Given the description of an element on the screen output the (x, y) to click on. 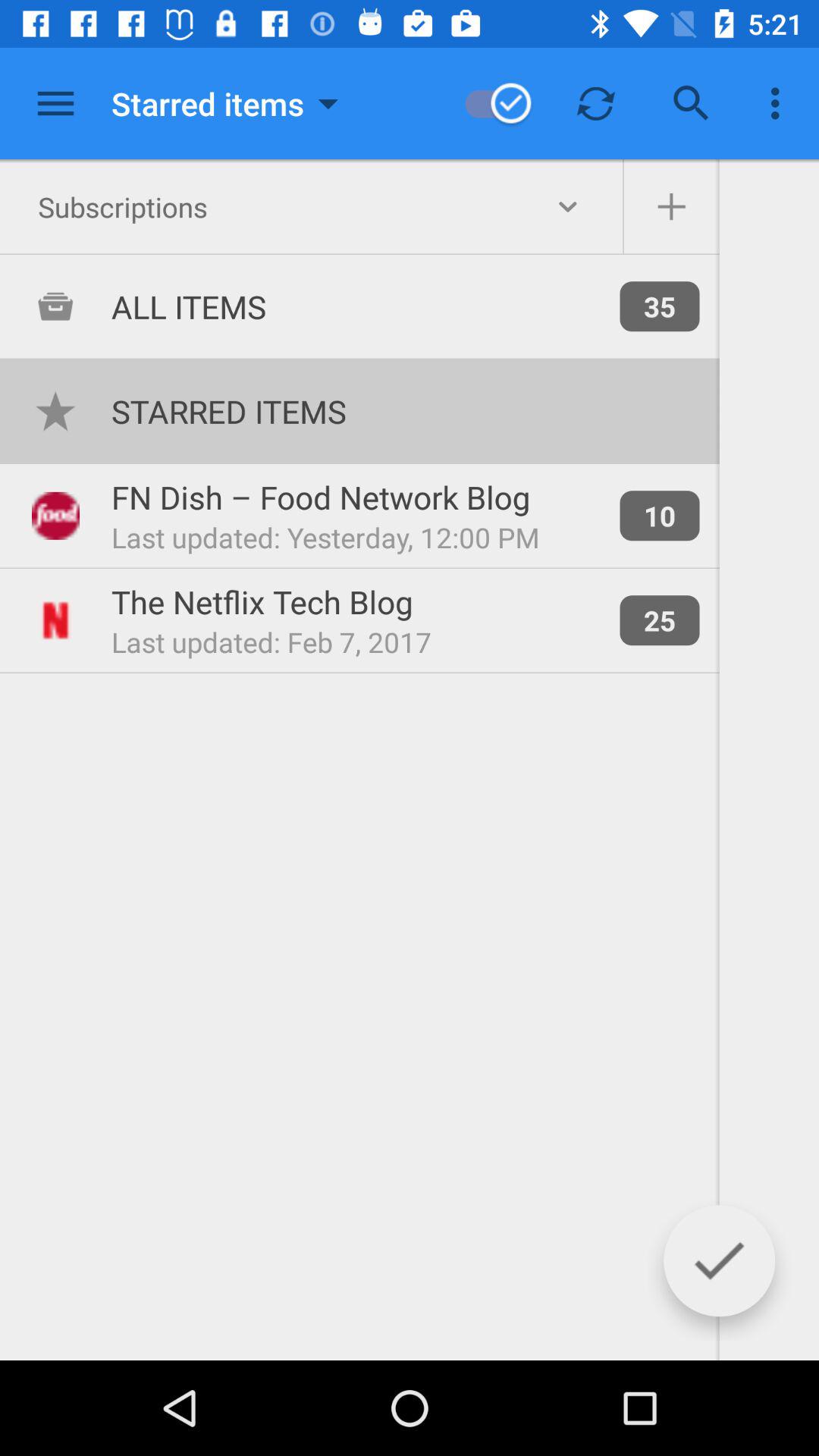
add items to subscriptions (671, 206)
